Given the description of an element on the screen output the (x, y) to click on. 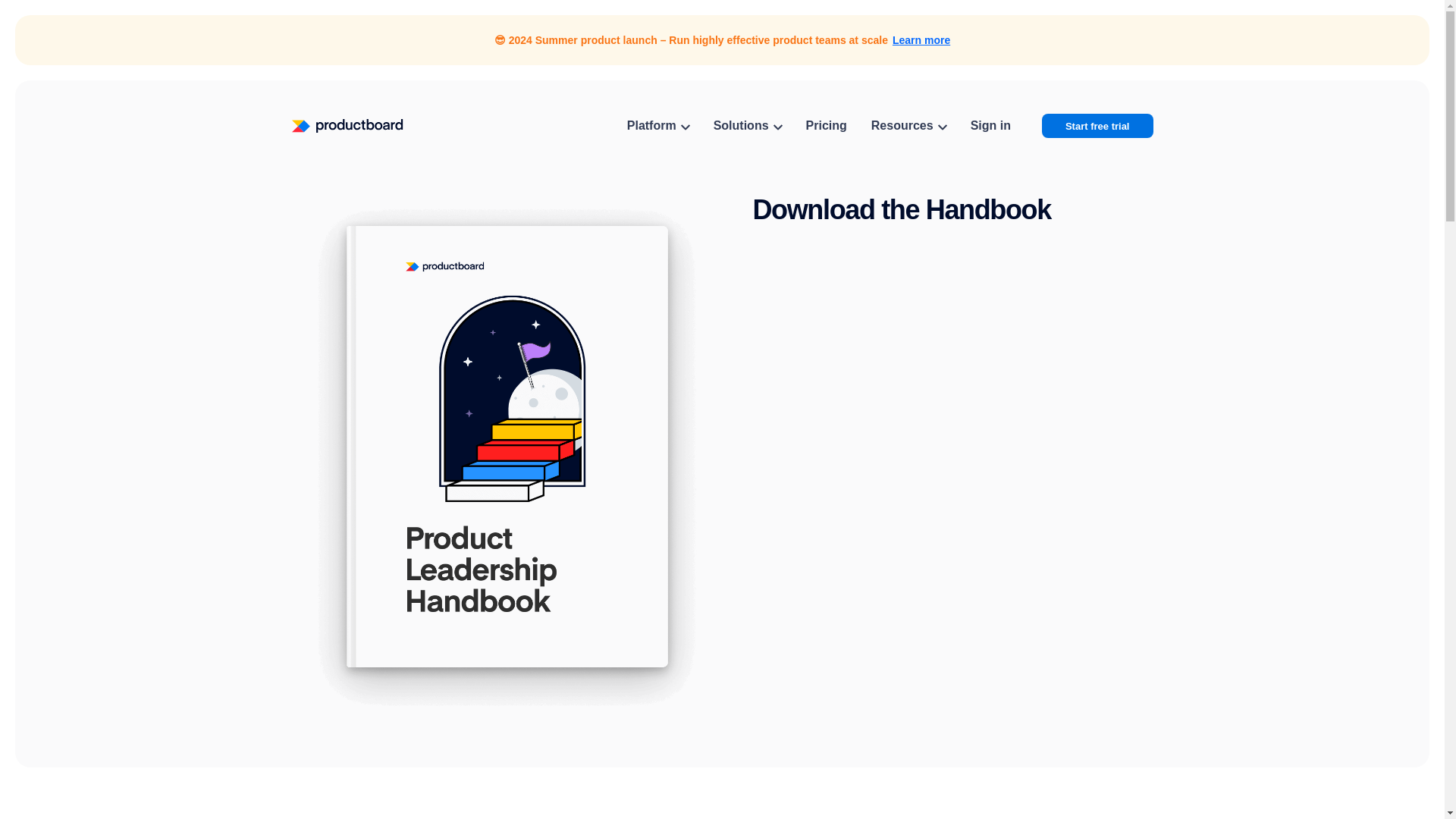
Learn more (921, 39)
Resources (908, 125)
Solutions (747, 125)
Platform (657, 125)
Pricing (826, 125)
